Given the description of an element on the screen output the (x, y) to click on. 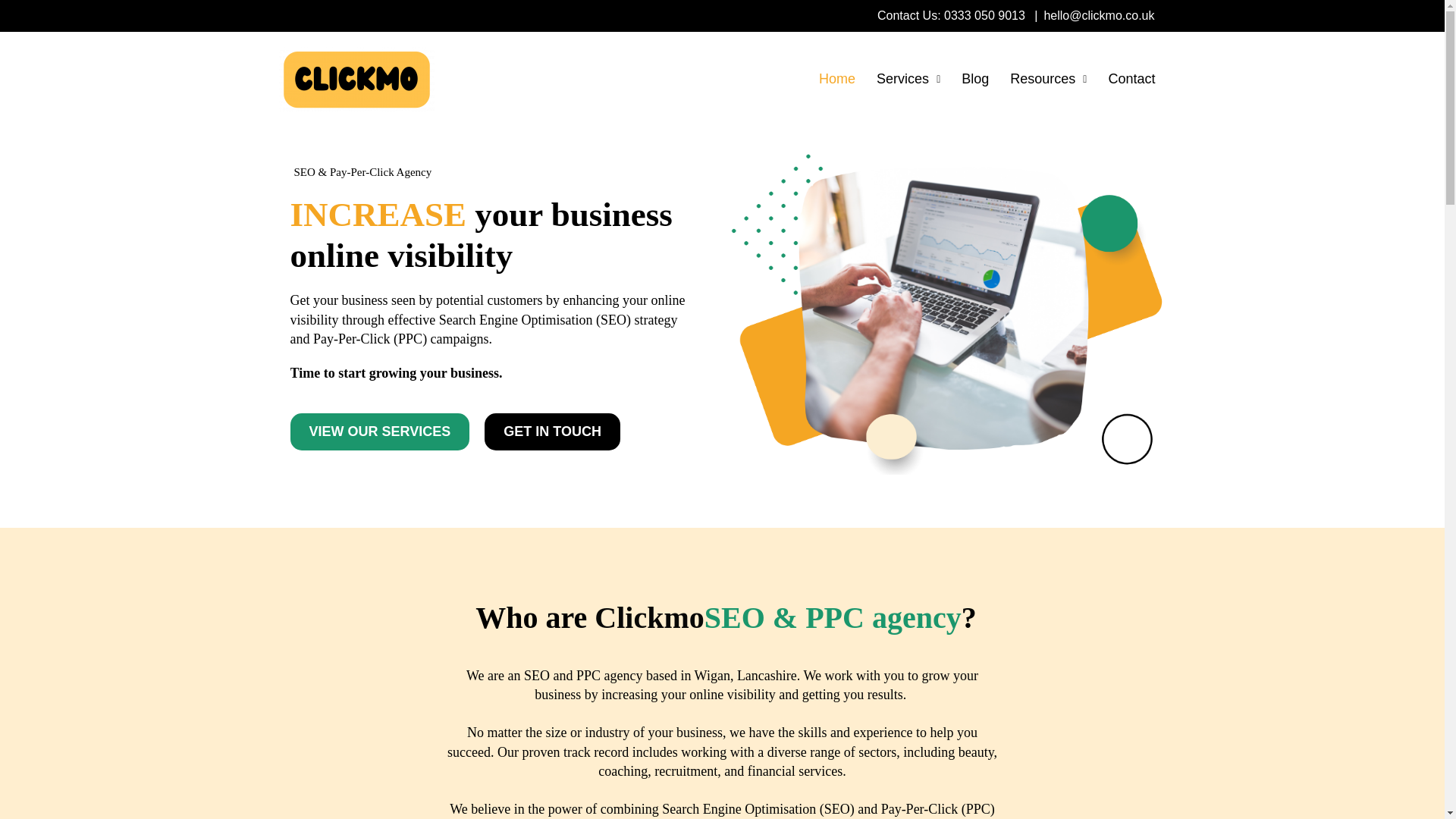
VIEW OUR SERVICES (378, 431)
VIEW OUR SERVICES (378, 431)
Clickmo-logo-trans.png (356, 78)
GET IN TOUCH (552, 431)
Resources (1048, 78)
GET IN TOUCH (552, 431)
